Given the description of an element on the screen output the (x, y) to click on. 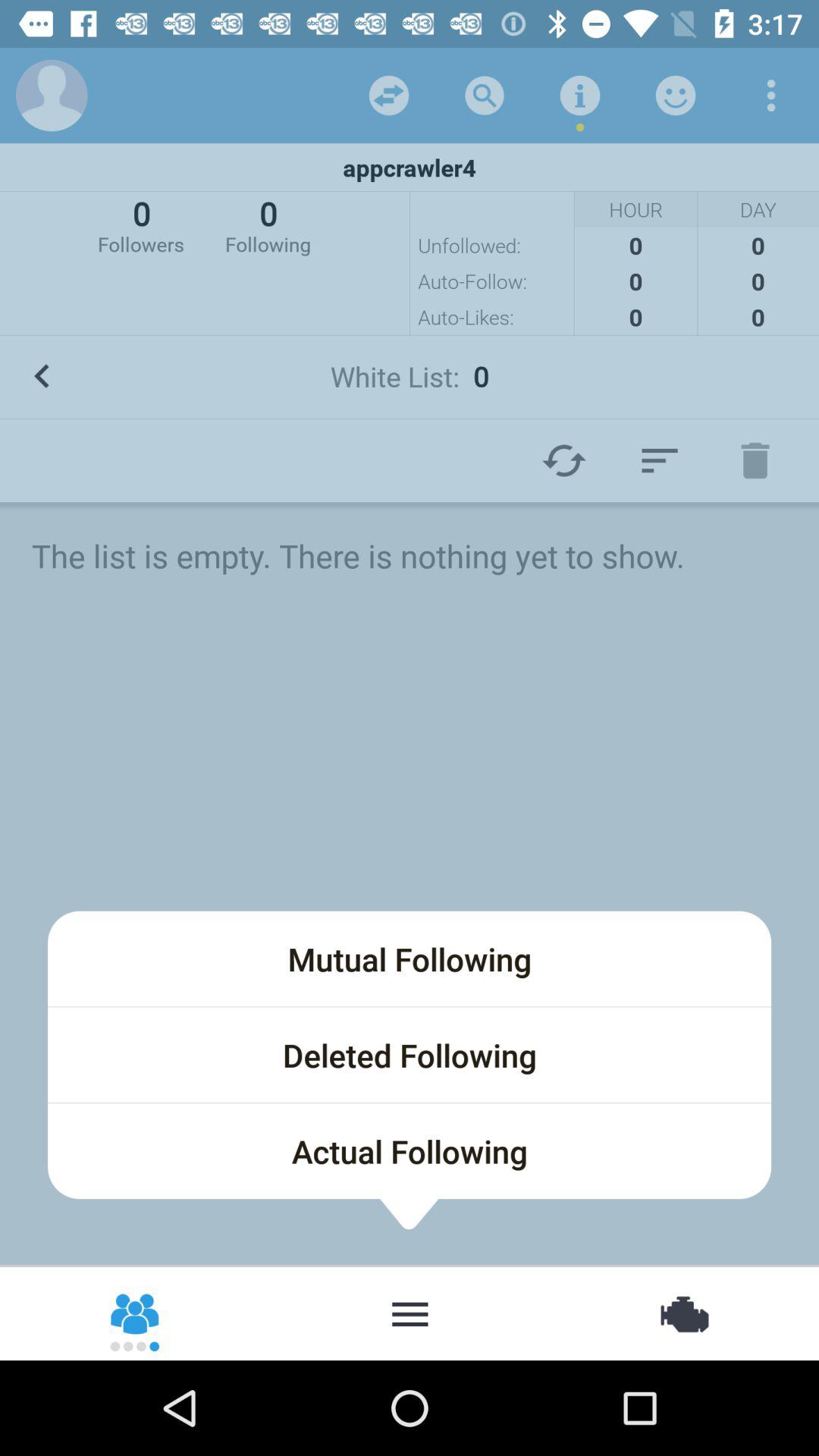
search option (484, 95)
